Given the description of an element on the screen output the (x, y) to click on. 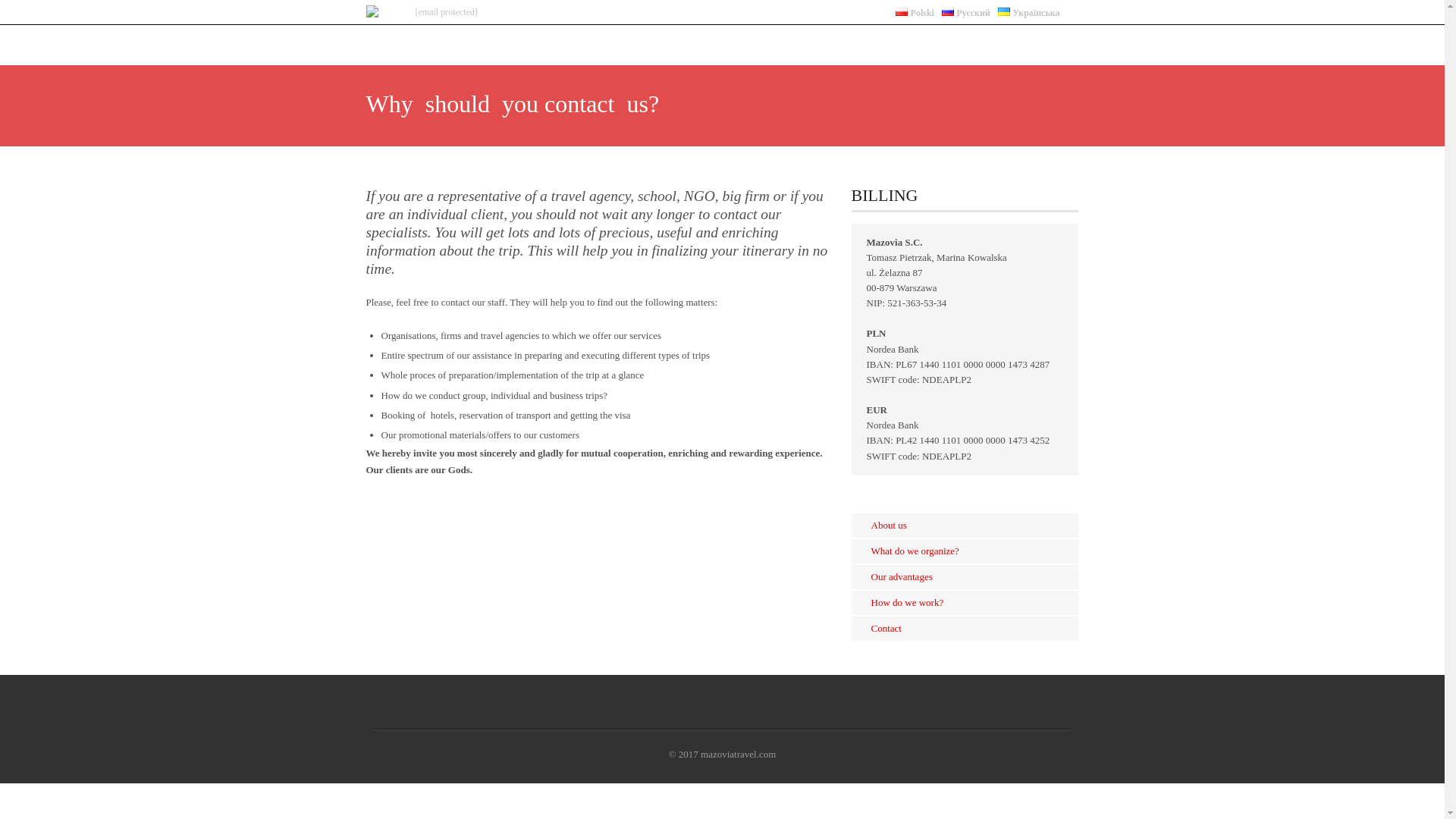
Polski (914, 12)
What do we organize? (914, 550)
OUR ADVANTAGES (842, 38)
Contact (885, 627)
ABOUT US (611, 38)
Our advantages (900, 576)
WHAT DO WE ORGANIZE? (717, 38)
HOW DO WE WORK? (954, 38)
How do we work? (906, 602)
About us (887, 524)
